Given the description of an element on the screen output the (x, y) to click on. 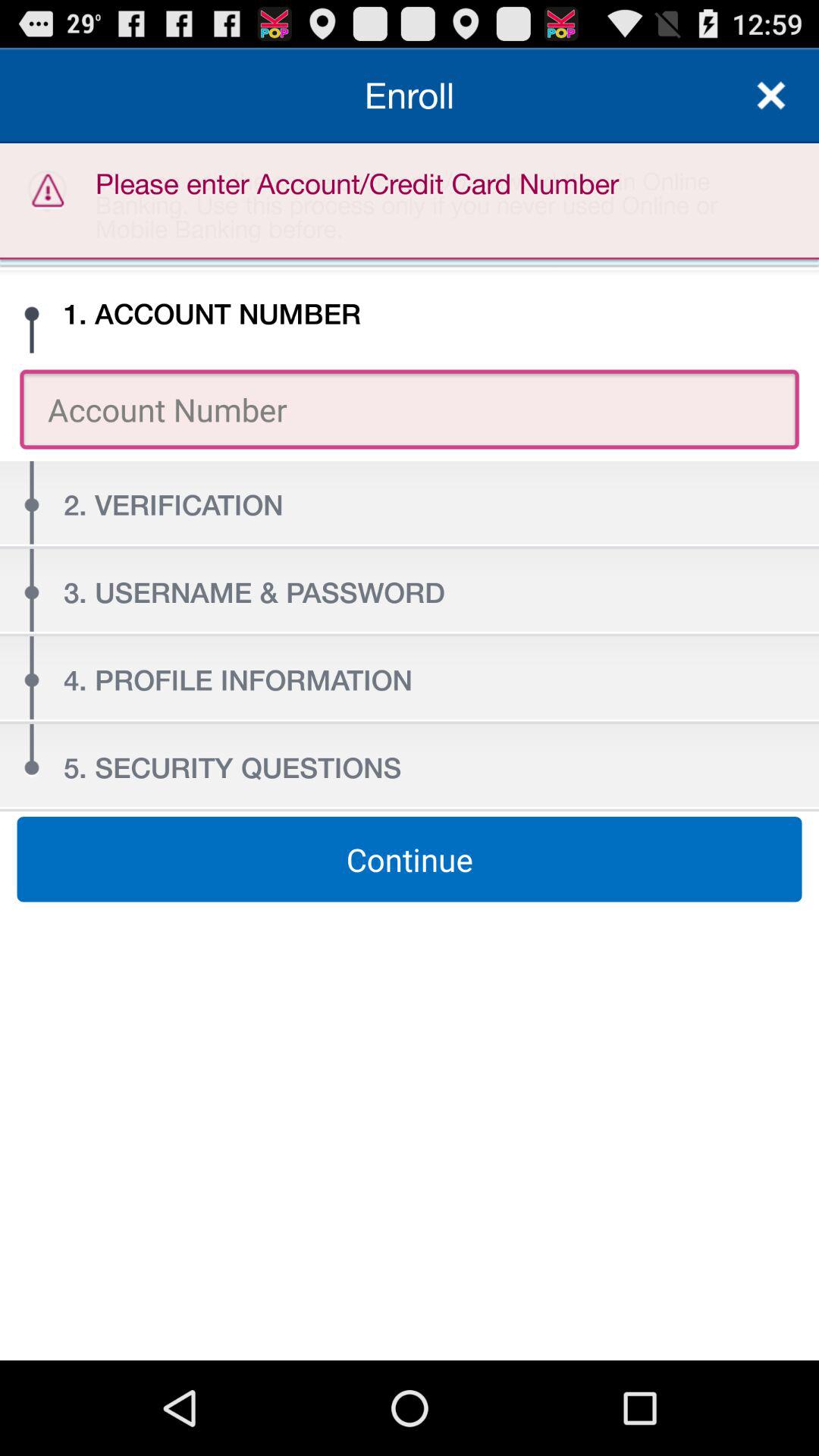
select account number (409, 409)
